Given the description of an element on the screen output the (x, y) to click on. 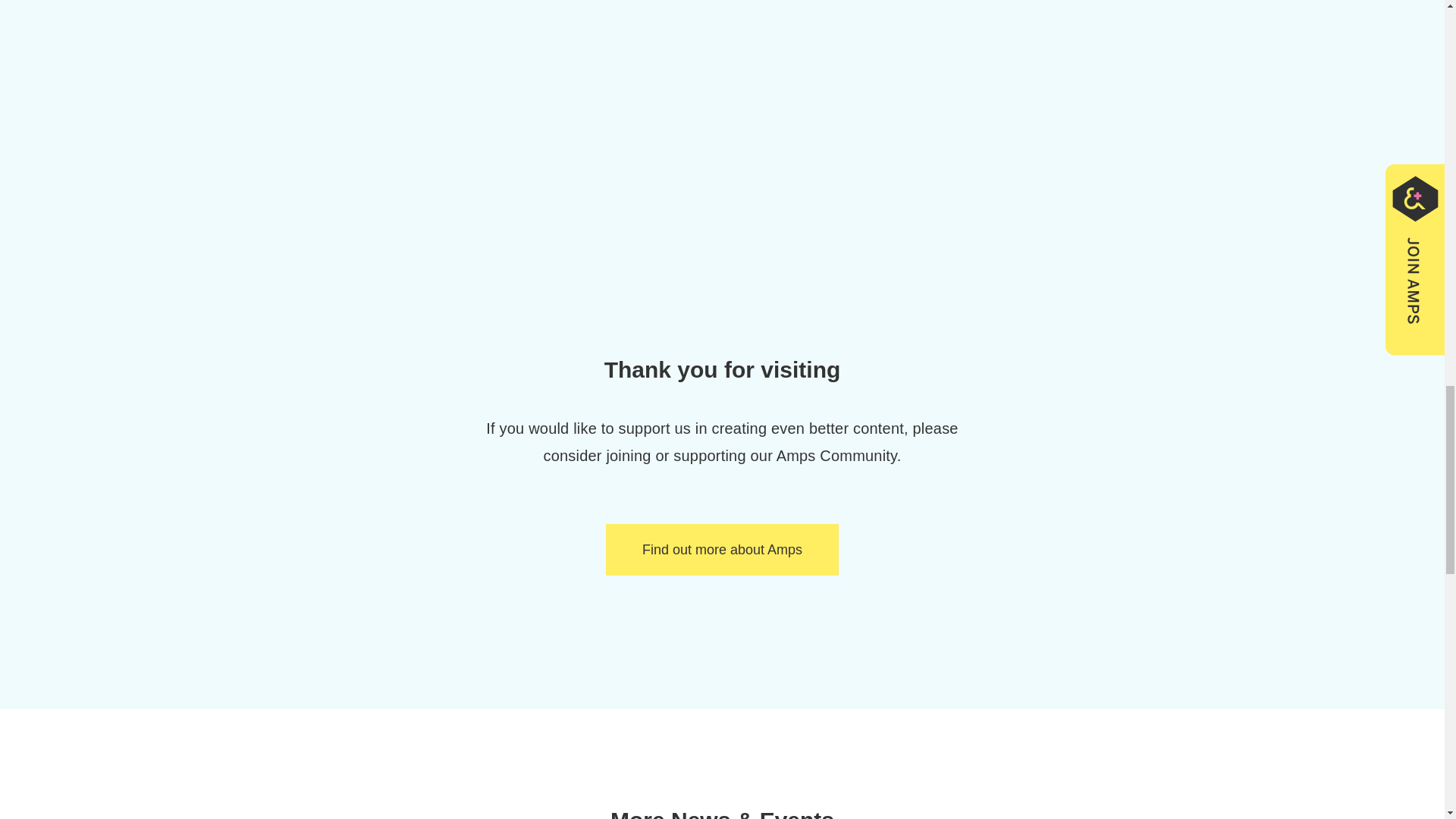
Find out more about Amps (721, 550)
